Given the description of an element on the screen output the (x, y) to click on. 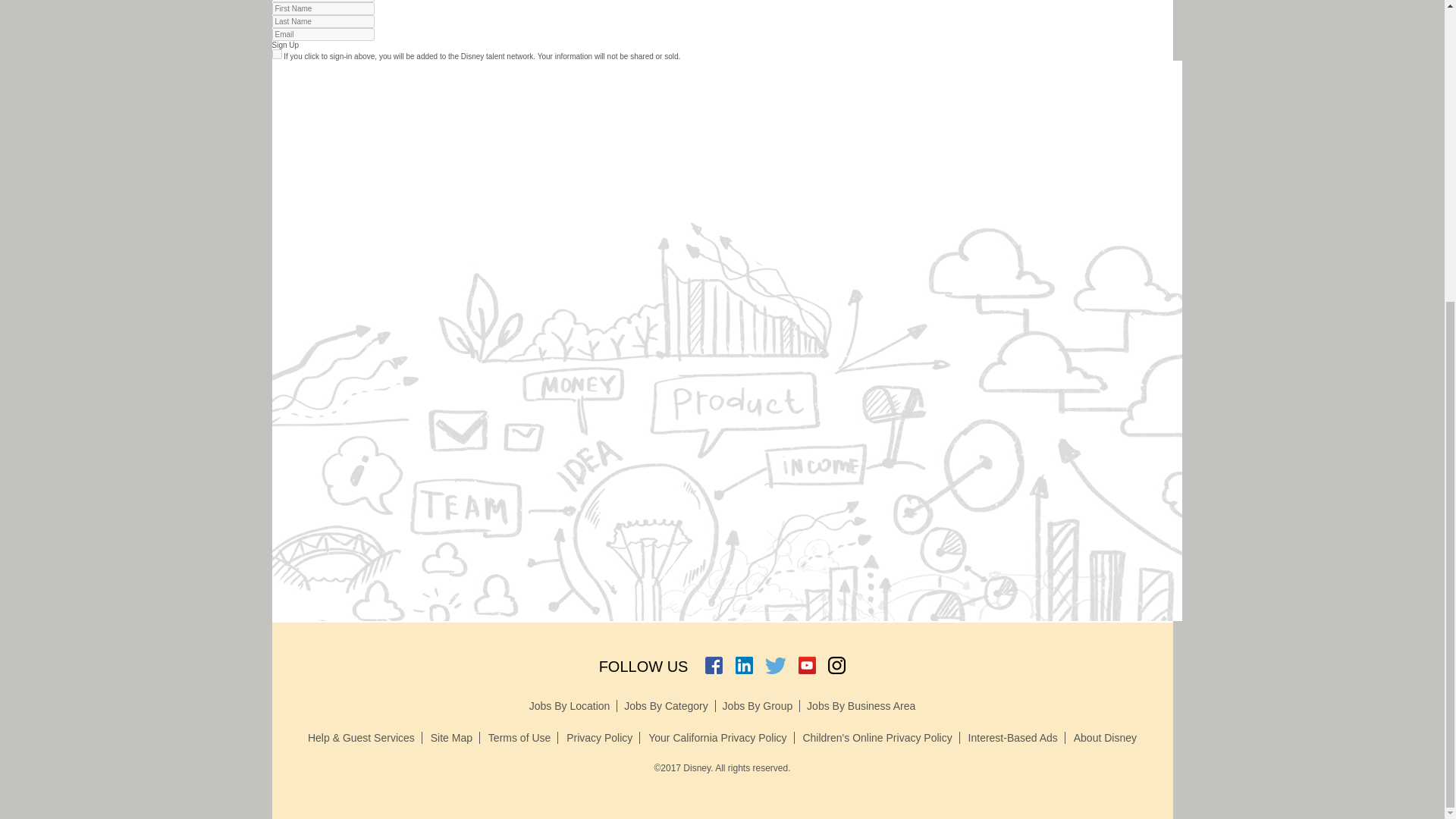
Terms of Use (522, 737)
Site Map (455, 737)
Children's Online Privacy Policy (880, 737)
Facebook (713, 665)
Twitter (775, 665)
Privacy Policy (603, 737)
YouTube (806, 665)
Your California Privacy Policy (720, 737)
Sign Up (284, 44)
Jobs By Group (761, 705)
on (275, 53)
LinkedIn (743, 665)
Instagram (836, 665)
Jobs By Location (573, 705)
Jobs By Business Area (860, 705)
